Given the description of an element on the screen output the (x, y) to click on. 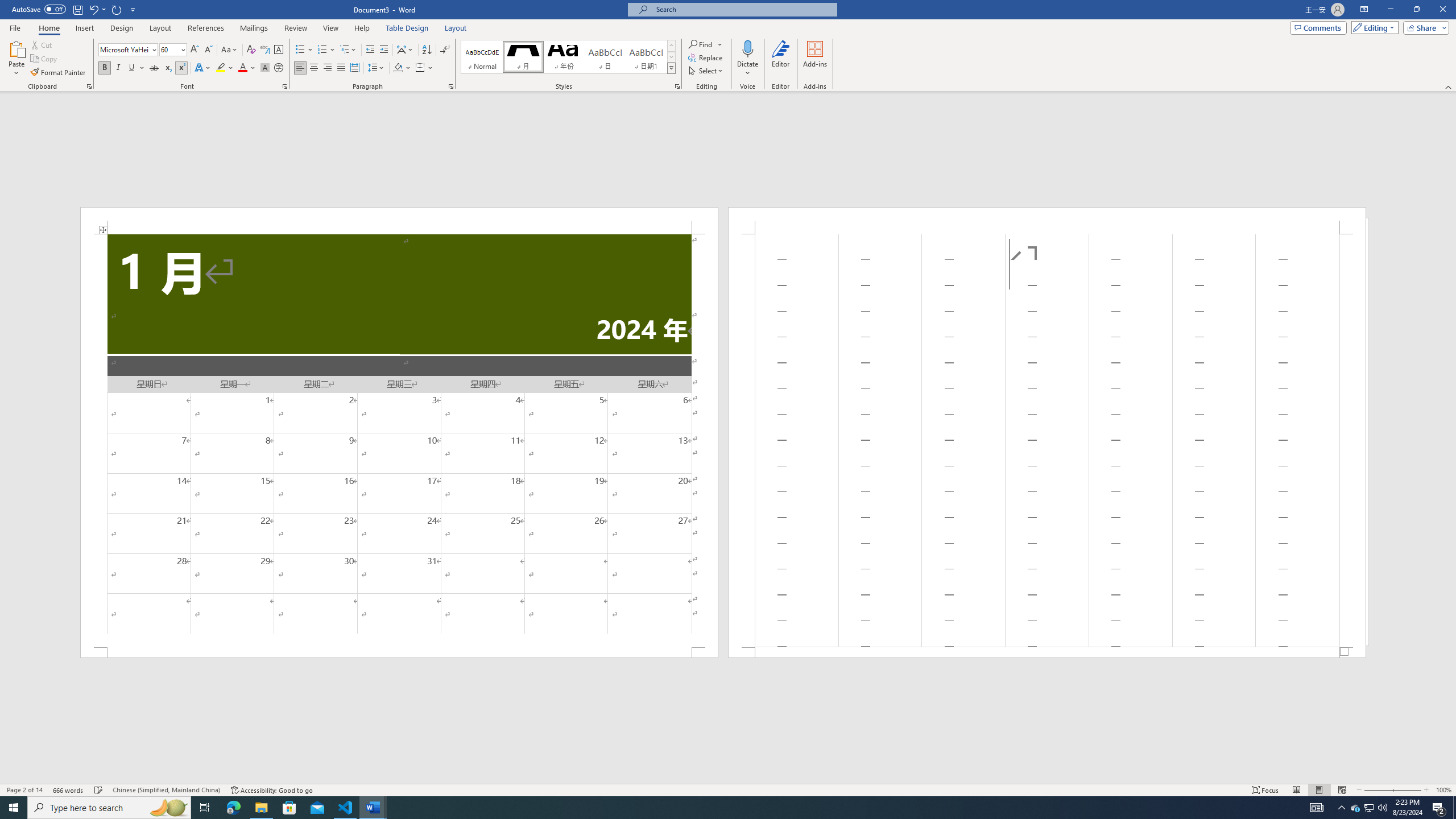
Minimize (1390, 9)
Page 2 content (1046, 440)
Home (48, 28)
Dictate (747, 48)
Borders (424, 67)
Strikethrough (154, 67)
Class: MsoCommandBar (728, 789)
Insert (83, 28)
Font Color (246, 67)
Help (361, 28)
Read Mode (1296, 790)
Format Painter (58, 72)
Superscript (180, 67)
